Given the description of an element on the screen output the (x, y) to click on. 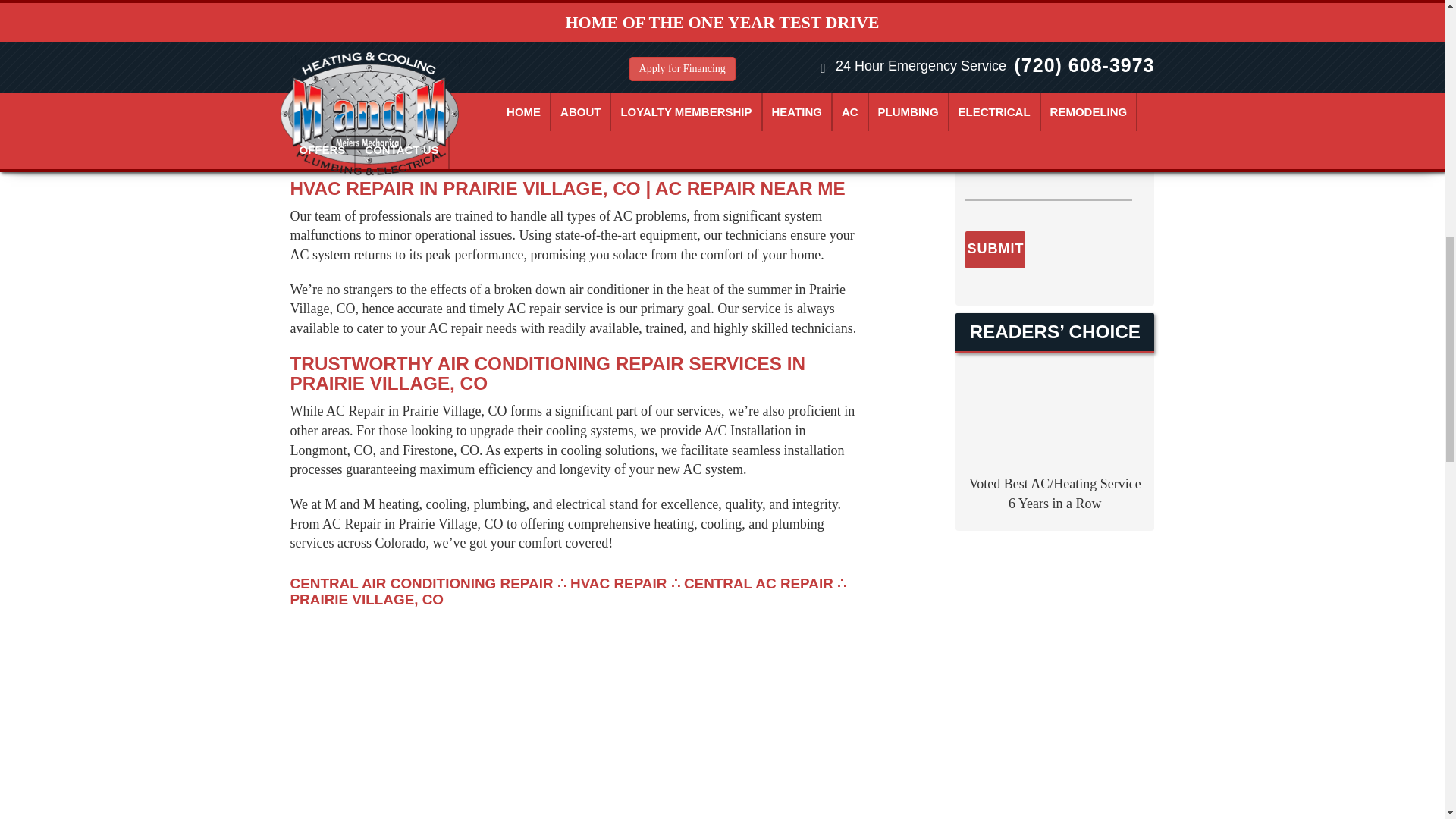
Submit (995, 249)
